Given the description of an element on the screen output the (x, y) to click on. 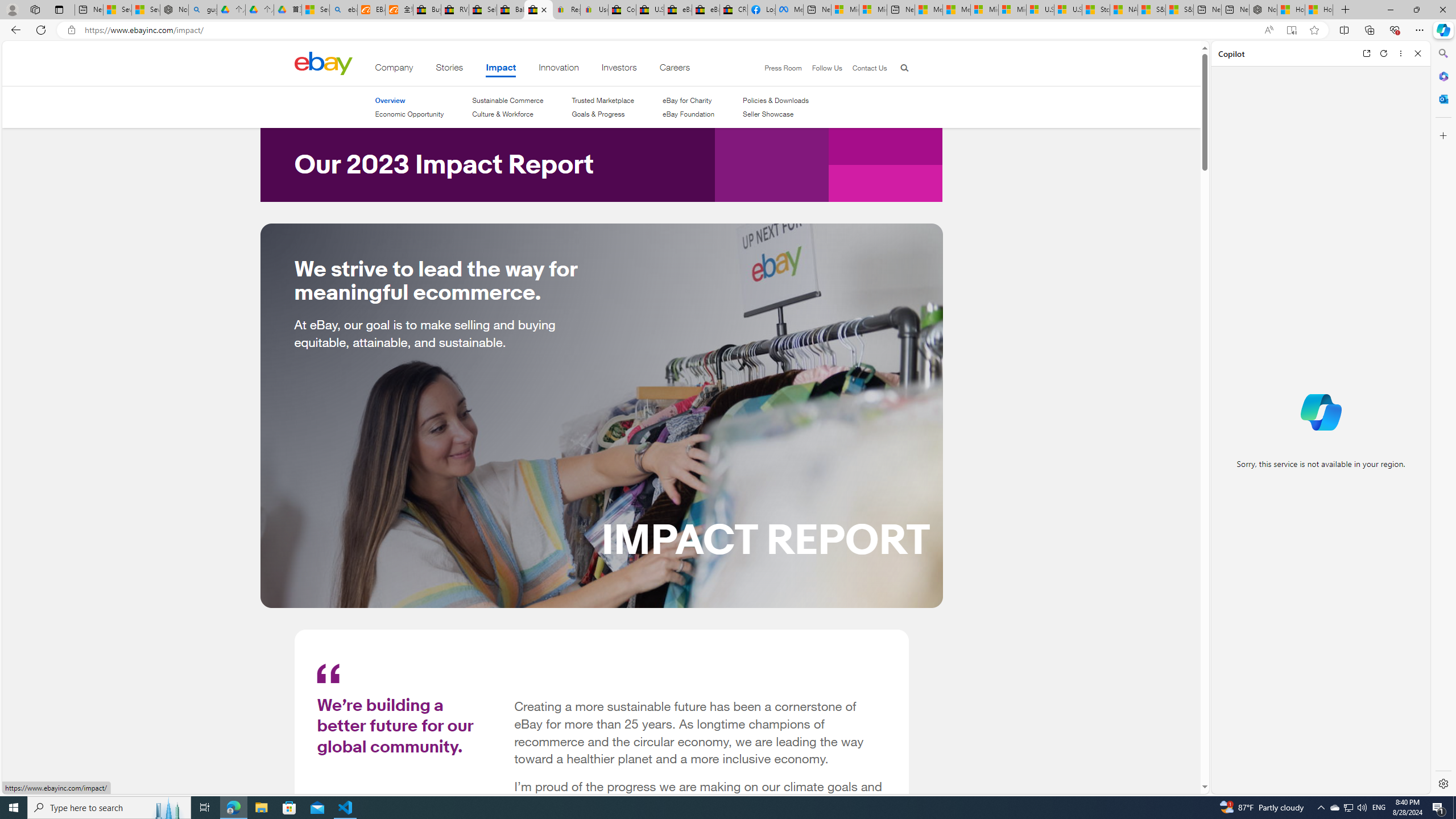
Trusted Marketplace (603, 99)
Economic Opportunity (409, 113)
Baby Keepsakes & Announcements for sale | eBay (510, 9)
Buy Auto Parts & Accessories | eBay (426, 9)
Enter Immersive Reader (F9) (1291, 29)
Impact (501, 69)
Careers (674, 69)
Investors (619, 69)
Open link in new tab (1366, 53)
Culture & Workforce (501, 113)
